Given the description of an element on the screen output the (x, y) to click on. 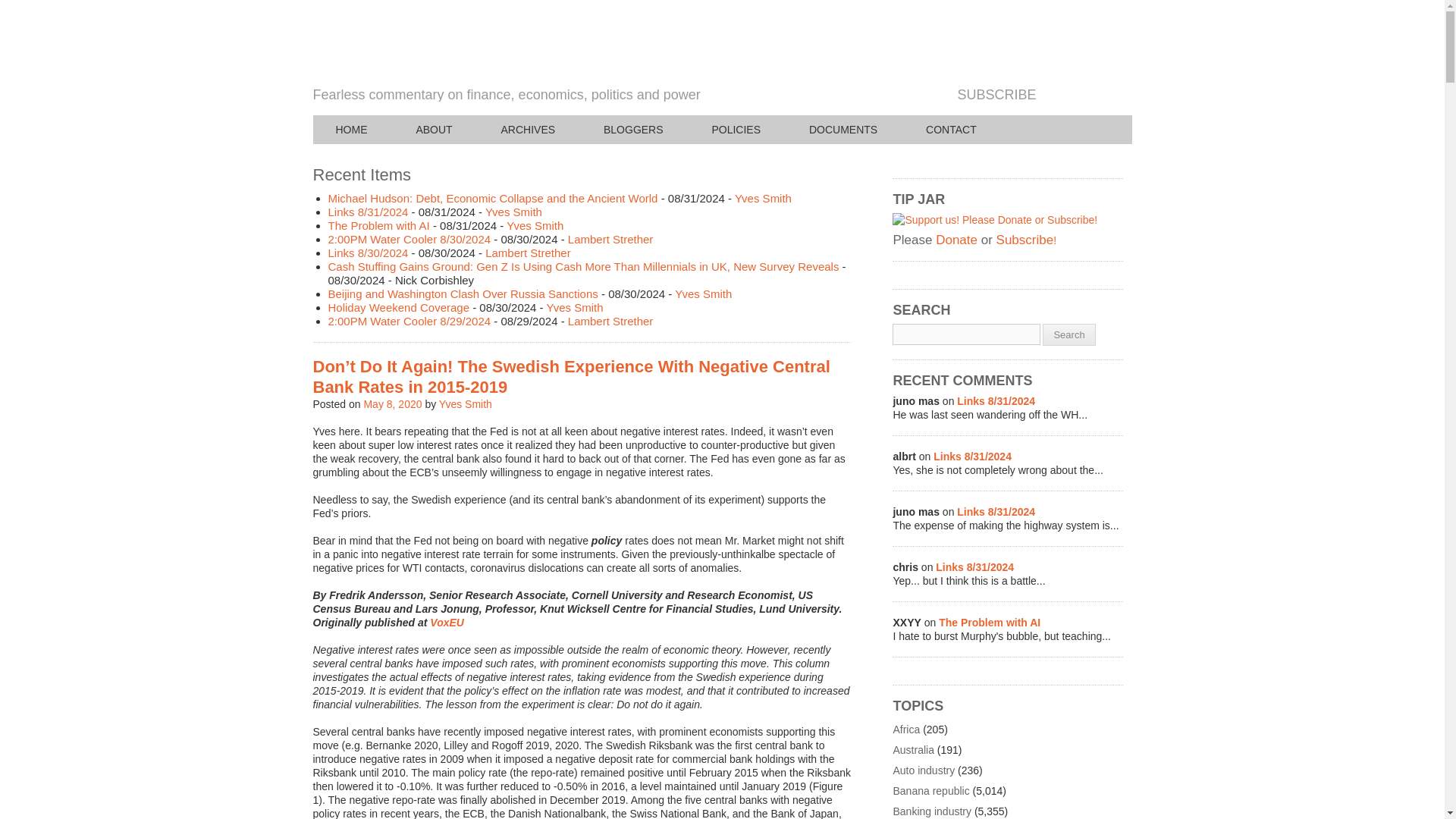
CONTACT (950, 129)
DOCUMENTS (842, 129)
Yves Smith (703, 293)
Lambert Strether (527, 252)
Yves Smith (574, 307)
Yves Smith (763, 197)
Subscribe to posts via Email (1051, 94)
The Problem with AI (378, 225)
Yves Smith (512, 211)
